Given the description of an element on the screen output the (x, y) to click on. 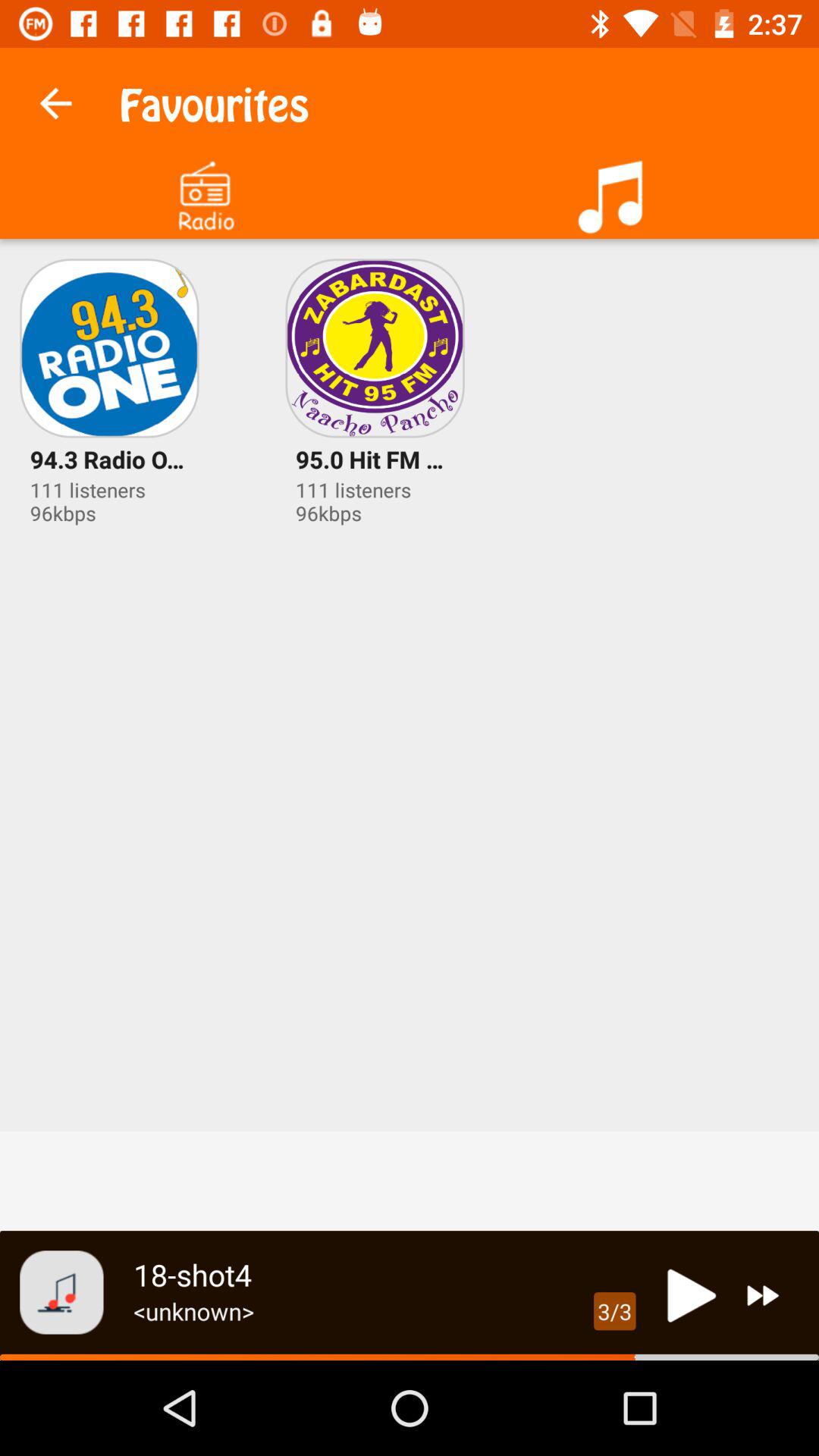
goes to favorite music tab (614, 190)
